Given the description of an element on the screen output the (x, y) to click on. 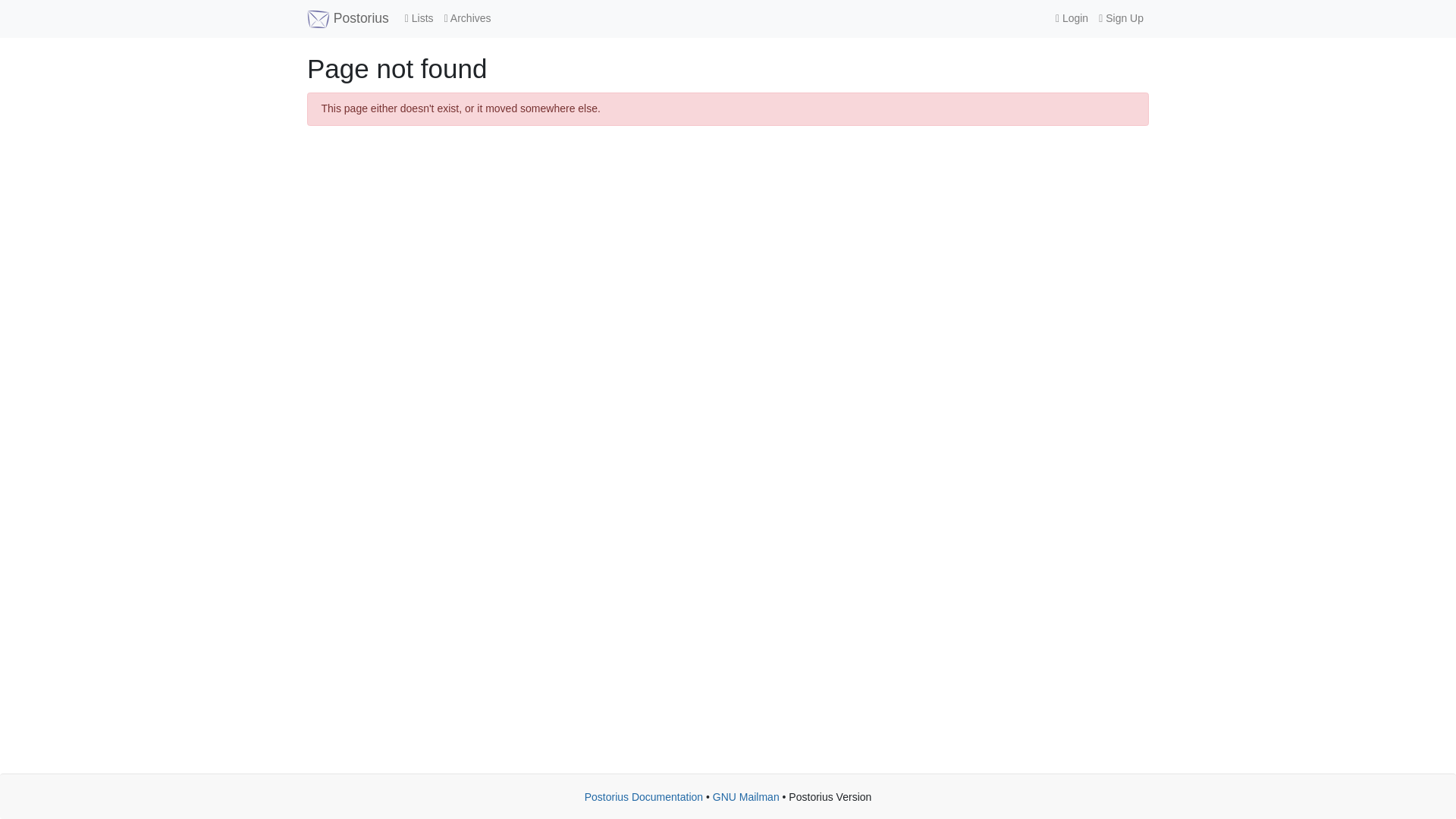
Postorius (347, 18)
Login (1071, 17)
Lists (418, 17)
Sign Up (1120, 17)
Archives (467, 17)
